Given the description of an element on the screen output the (x, y) to click on. 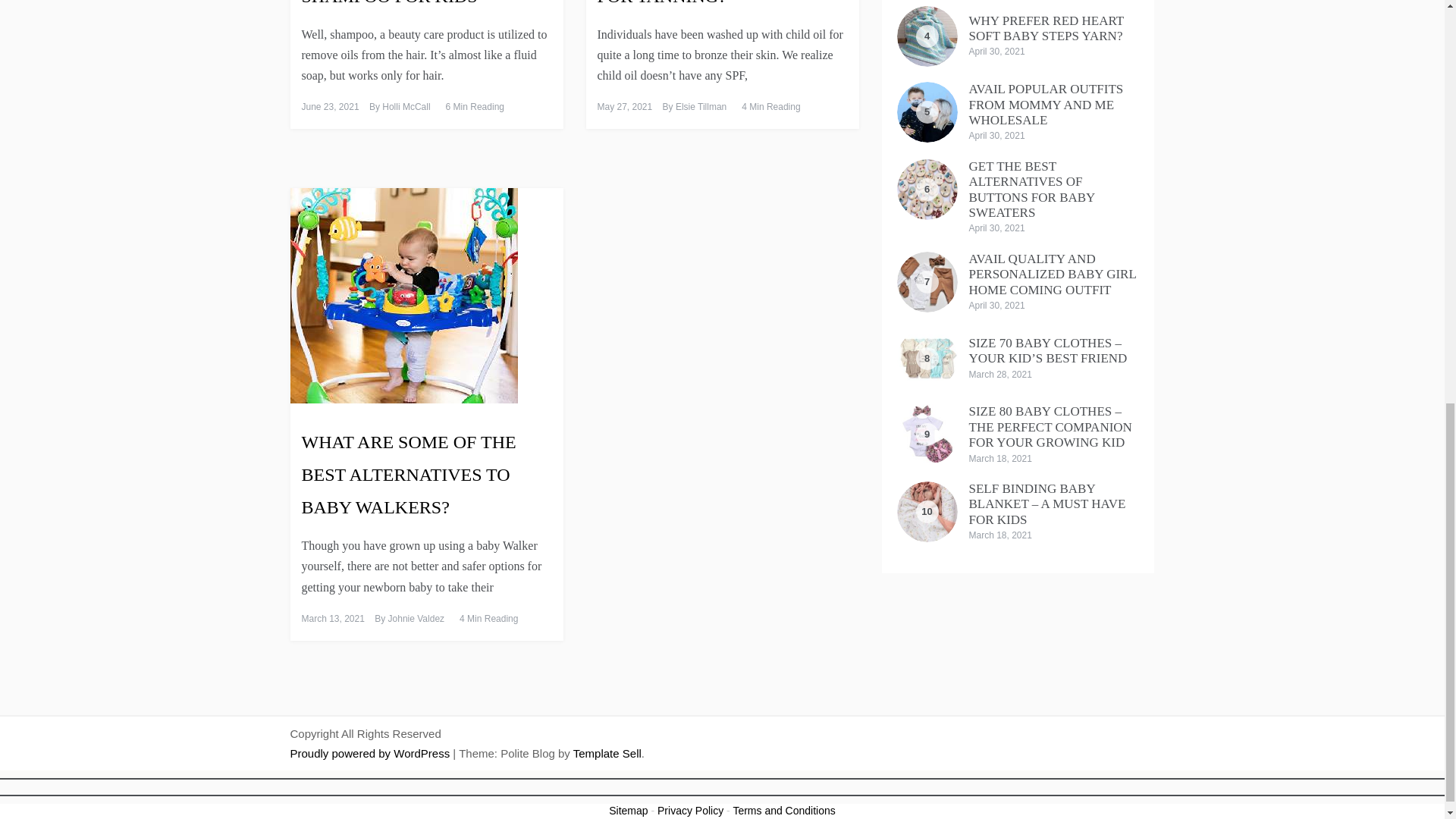
WHAT ARE SOME OF THE BEST ALTERNATIVES TO BABY WALKERS? (408, 474)
KNOW ABOUT THE BEST SHAMPOO FOR KIDS (406, 2)
June 23, 2021 (330, 106)
May 27, 2021 (624, 106)
Elsie Tillman (700, 106)
IS IT SAFE TO USE BABY OIL FOR TANNING? (718, 2)
Holli McCall (405, 106)
